Given the description of an element on the screen output the (x, y) to click on. 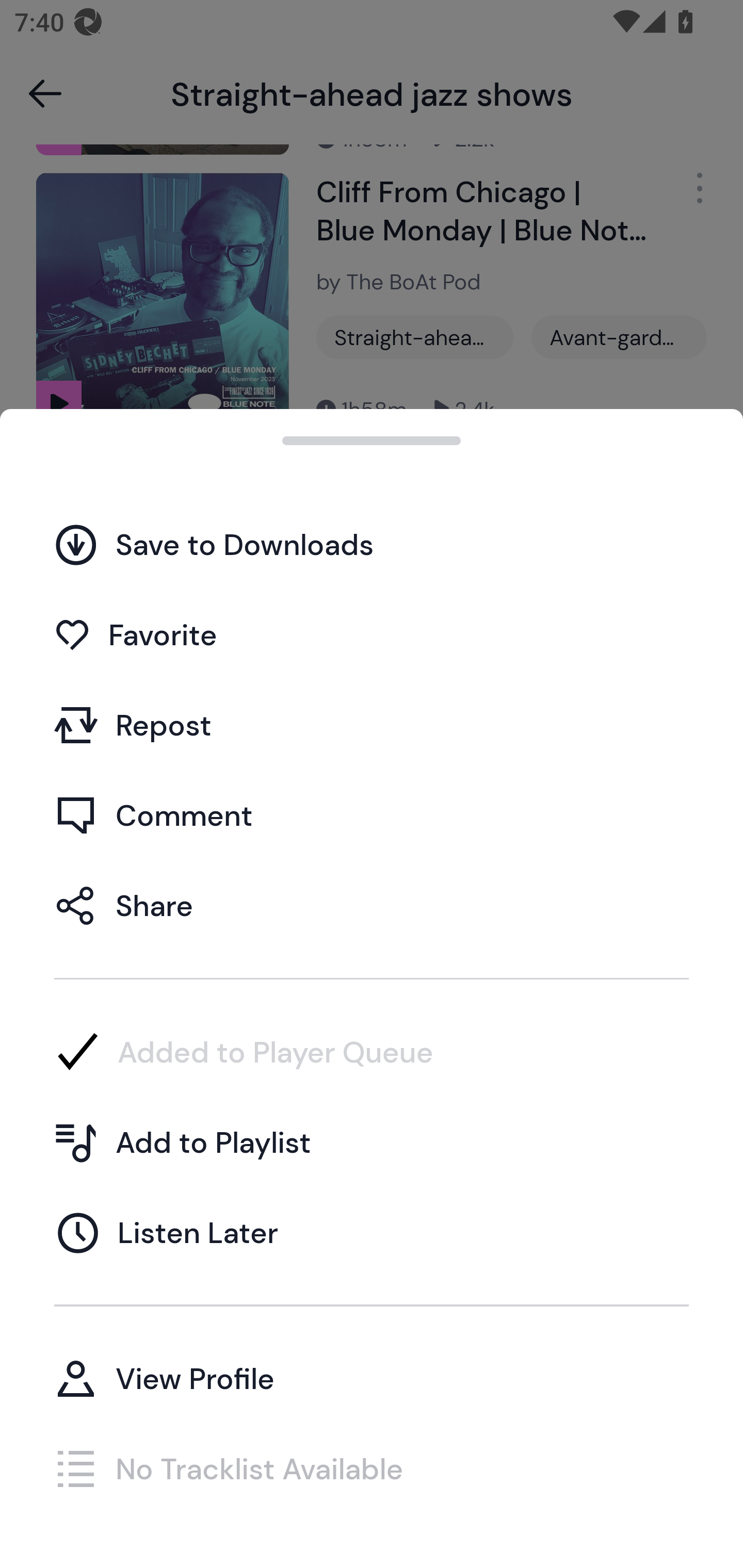
Save to Downloads (371, 543)
Favorite (371, 634)
Repost (371, 724)
Comment (371, 814)
Share (371, 905)
Add to Playlist (371, 1141)
View Profile (371, 1377)
No Tracklist Available (371, 1468)
